Given the description of an element on the screen output the (x, y) to click on. 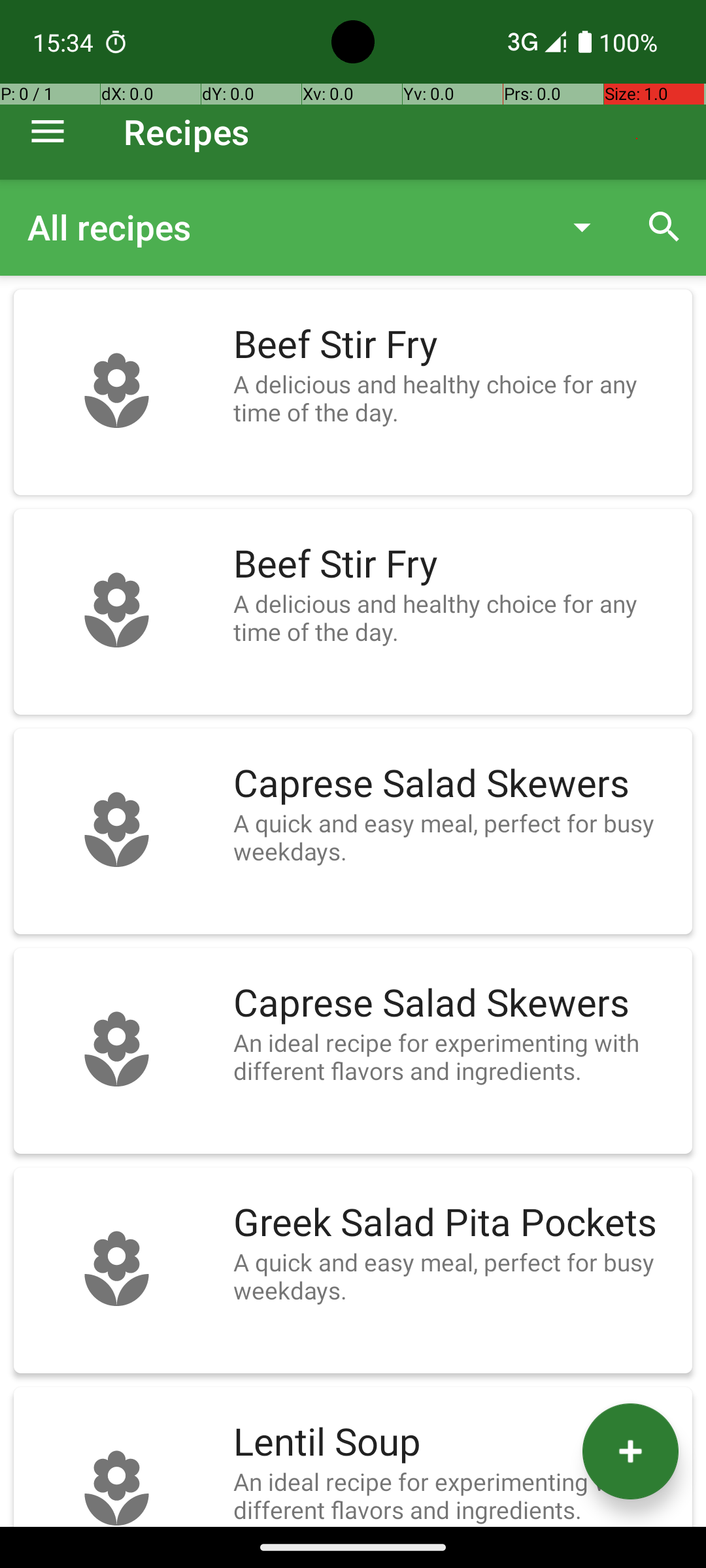
Greek Salad Pita Pockets Element type: android.widget.TextView (455, 1222)
Lentil Soup Element type: android.widget.TextView (455, 1442)
